Given the description of an element on the screen output the (x, y) to click on. 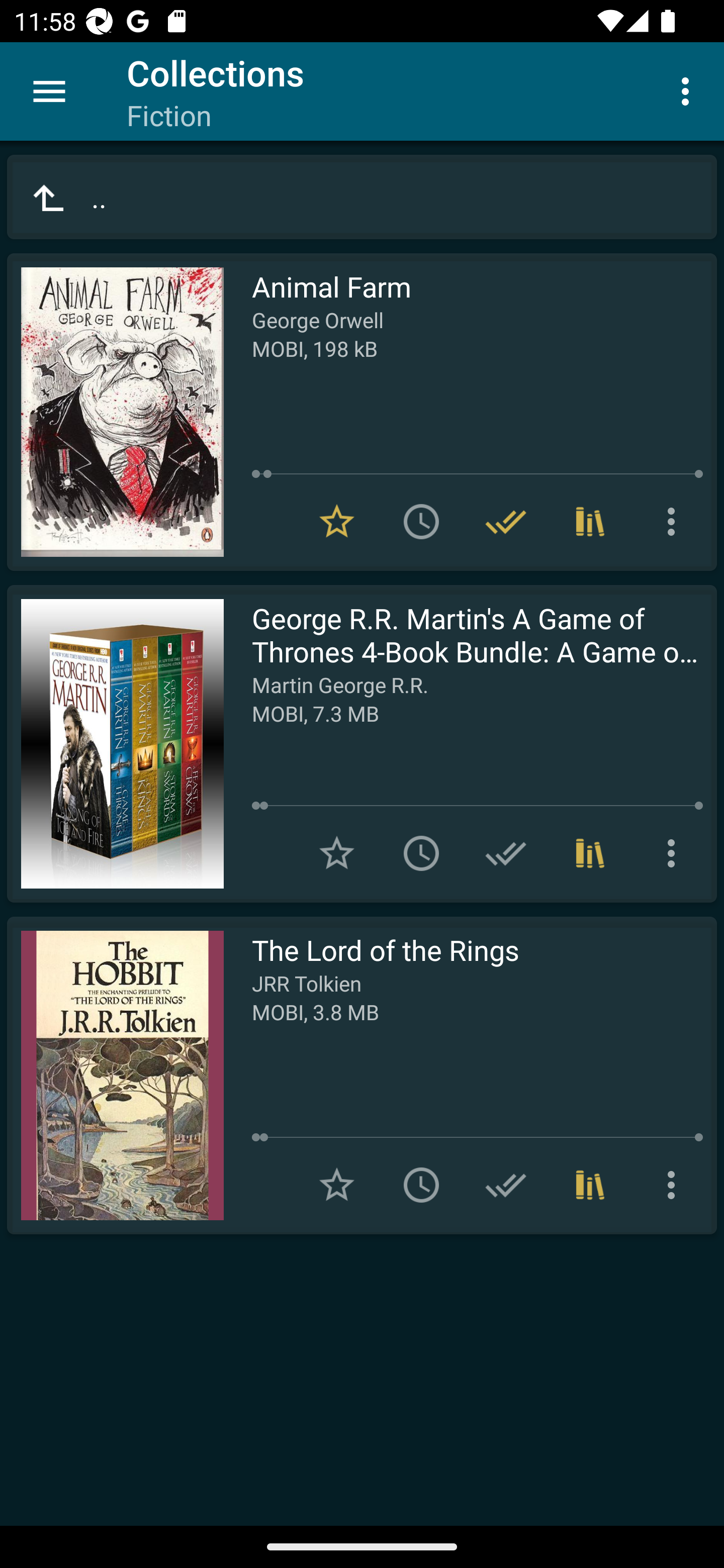
Menu (49, 91)
More options (688, 90)
.. (361, 197)
Read Animal Farm (115, 412)
Remove from Favorites (336, 521)
Add to To read (421, 521)
Remove from Have read (505, 521)
Collections (1) (590, 521)
More options (674, 521)
Add to Favorites (336, 852)
Add to To read (421, 852)
Add to Have read (505, 852)
Collections (1) (590, 852)
More options (674, 852)
Read The Lord of the Rings (115, 1075)
Add to Favorites (336, 1185)
Add to To read (421, 1185)
Add to Have read (505, 1185)
Collections (1) (590, 1185)
More options (674, 1185)
